Given the description of an element on the screen output the (x, y) to click on. 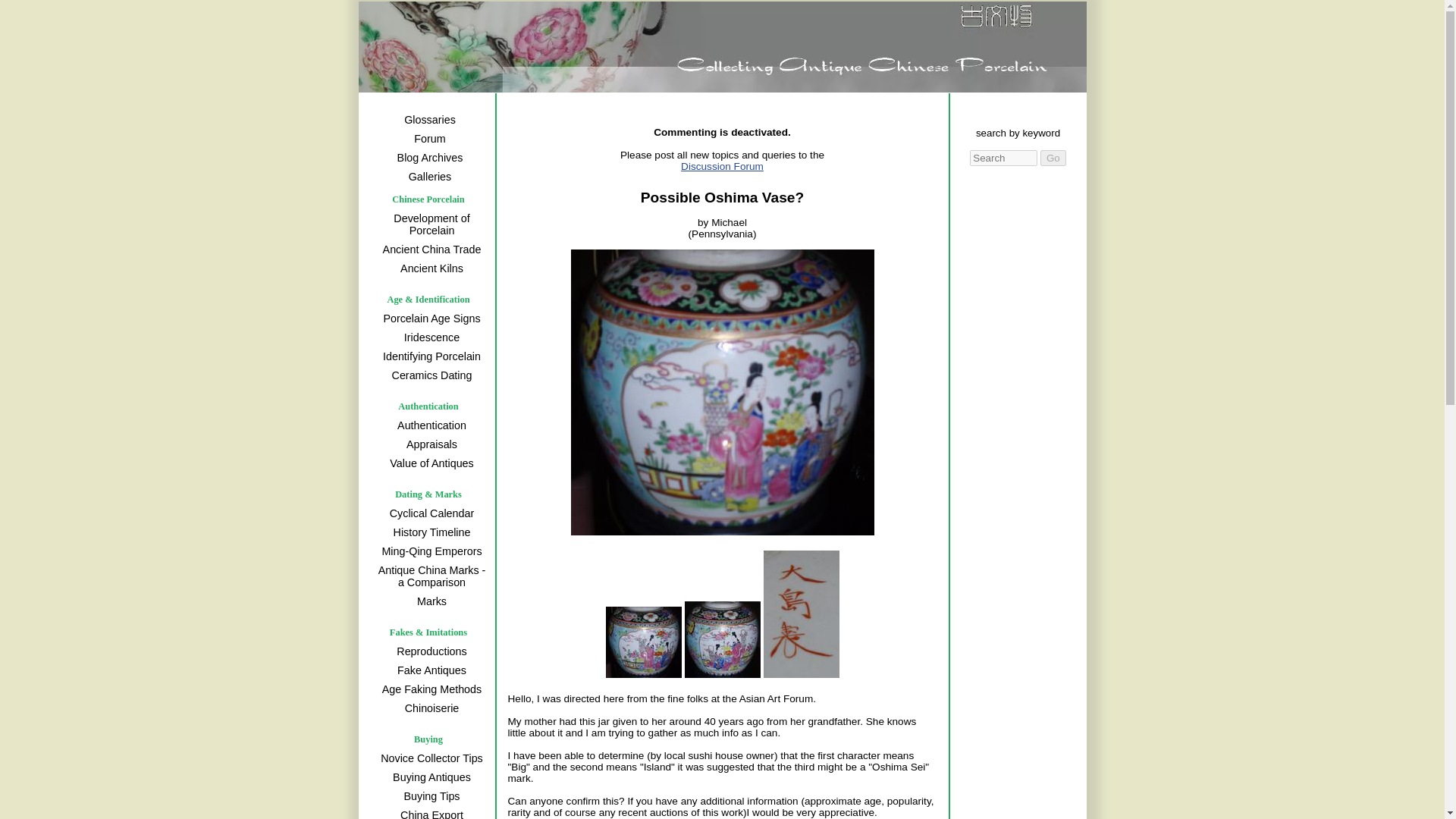
Ceramics Dating (429, 375)
Discussion Forum (752, 171)
Chinoiserie (429, 708)
History Timeline (429, 532)
Fake Antiques (429, 669)
Buying Tips (429, 795)
Antique China Marks - a Comparison (429, 575)
Forum (428, 138)
Porcelain Age Signs (429, 318)
Blog Archives (428, 157)
Cyclical Calendar (429, 513)
China Export Restrictions (429, 812)
Glossaries (428, 119)
Reproductions (429, 651)
Development of Porcelain (429, 224)
